Given the description of an element on the screen output the (x, y) to click on. 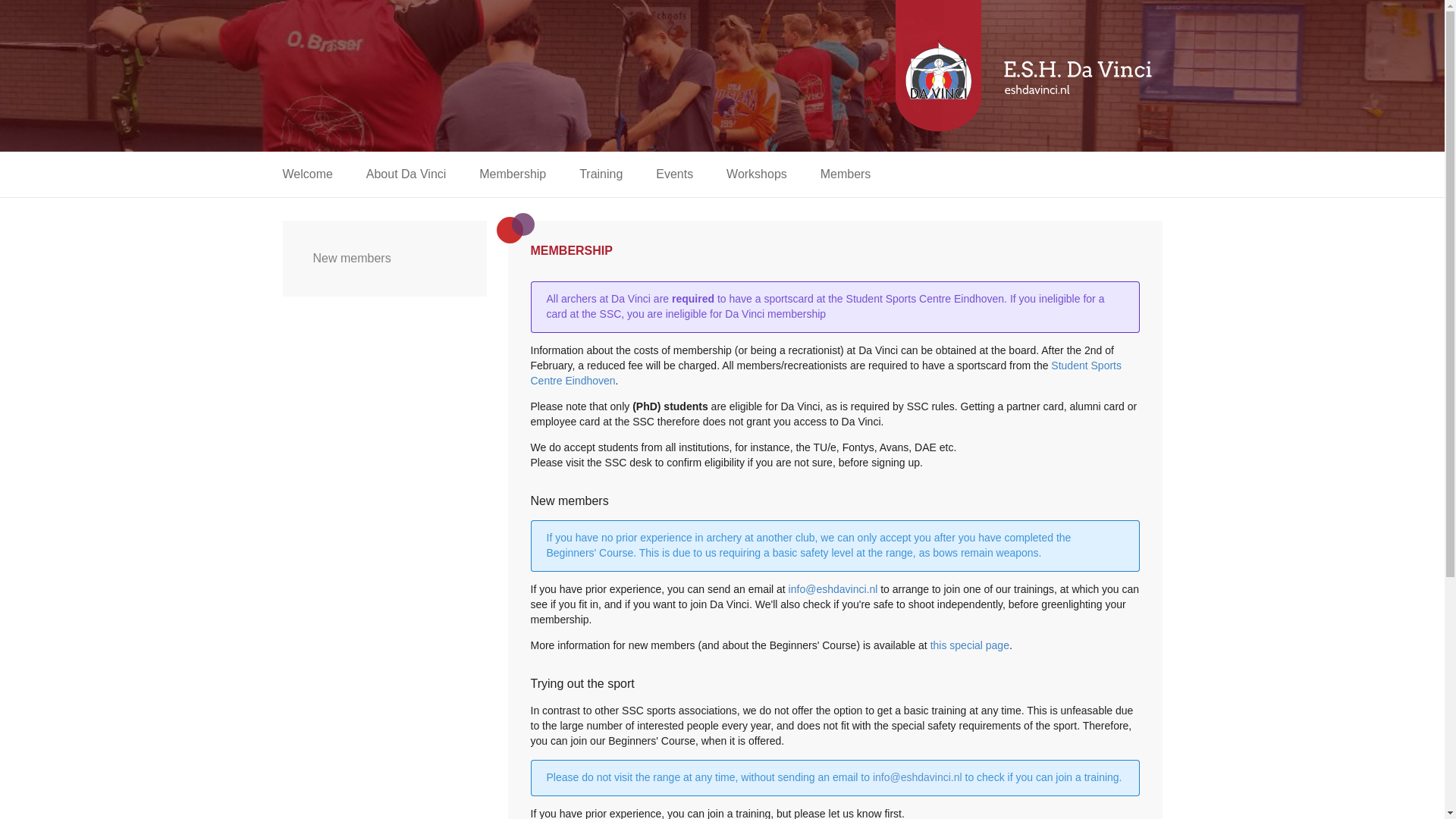
Training (600, 173)
Student Sports Centre Eindhoven (826, 372)
New members (383, 258)
this special page (969, 645)
Events (673, 173)
Membership (512, 173)
About Da Vinci (405, 173)
Welcome (306, 173)
Workshops (756, 173)
Members (845, 173)
